Given the description of an element on the screen output the (x, y) to click on. 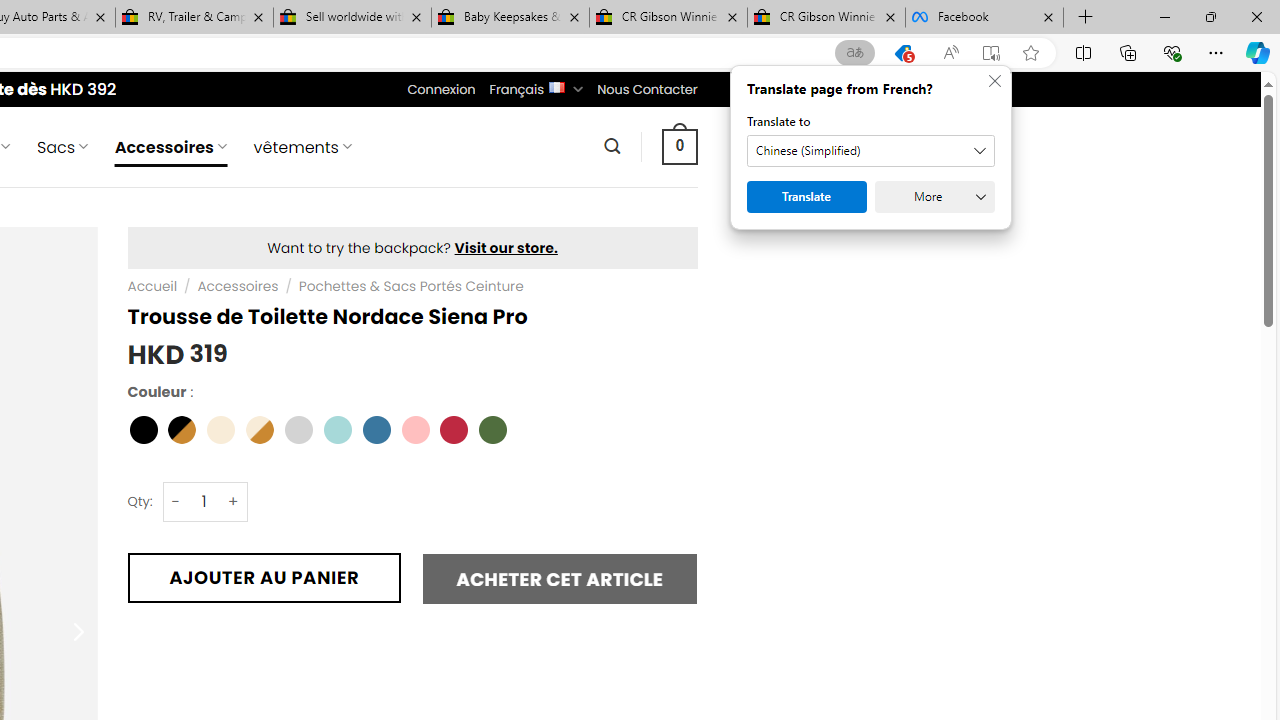
Translate (806, 196)
Accessoires (238, 286)
Show translate options (854, 53)
Connexion (441, 89)
Nous Contacter (646, 89)
Visit our store. (506, 247)
Nous Contacter (646, 89)
Sell worldwide with eBay (352, 17)
+ (234, 501)
